Given the description of an element on the screen output the (x, y) to click on. 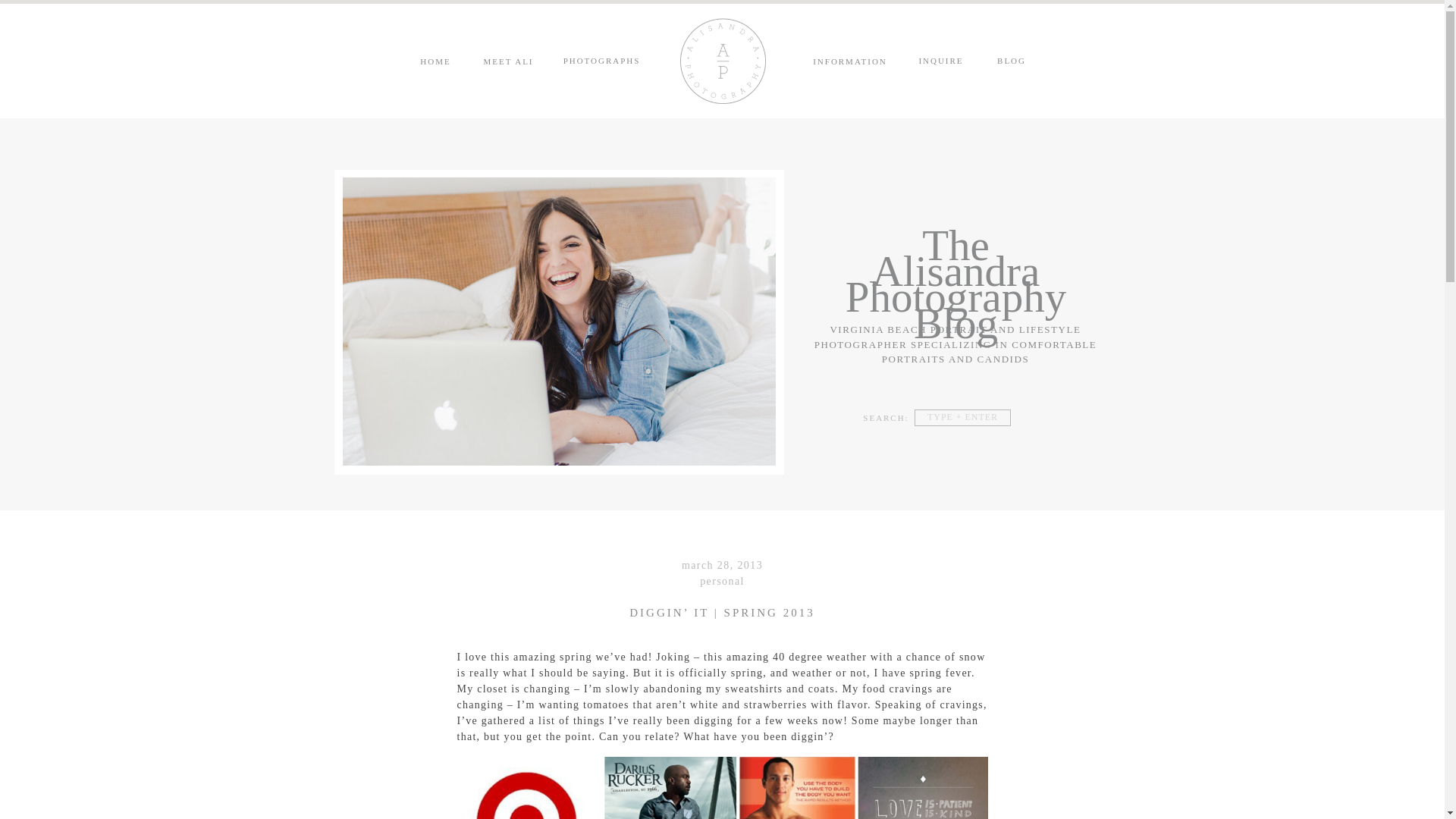
INFORMATION (849, 61)
BLOG (1011, 61)
MEET ALI (508, 61)
HOME (435, 61)
INQUIRE (940, 61)
personal (722, 581)
PHOTOGRAPHS (601, 61)
